Given the description of an element on the screen output the (x, y) to click on. 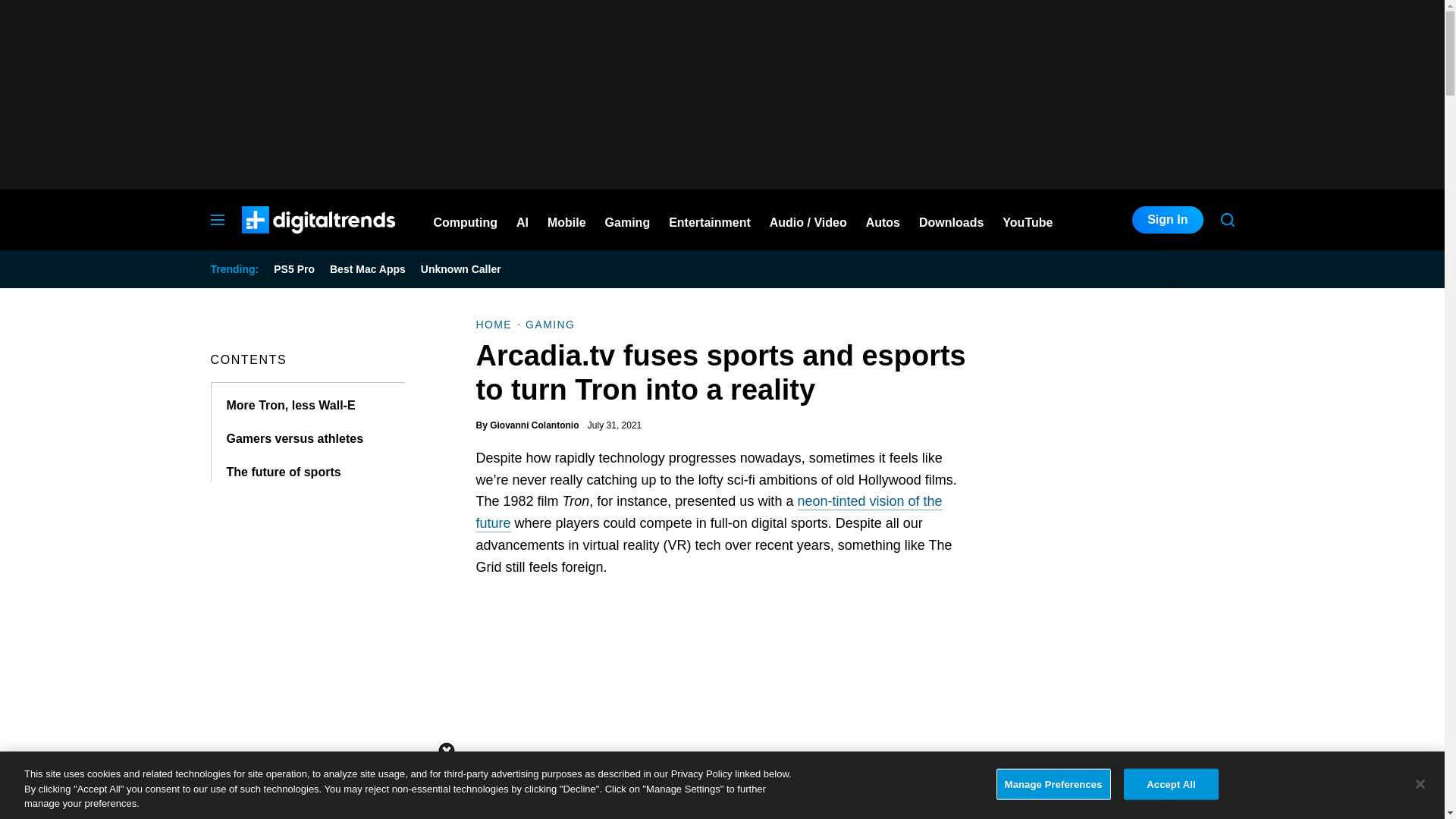
3rd party ad content (721, 785)
Sign In (1167, 219)
Computing (465, 219)
Entertainment (709, 219)
Downloads (951, 219)
3rd party ad content (1120, 674)
